Given the description of an element on the screen output the (x, y) to click on. 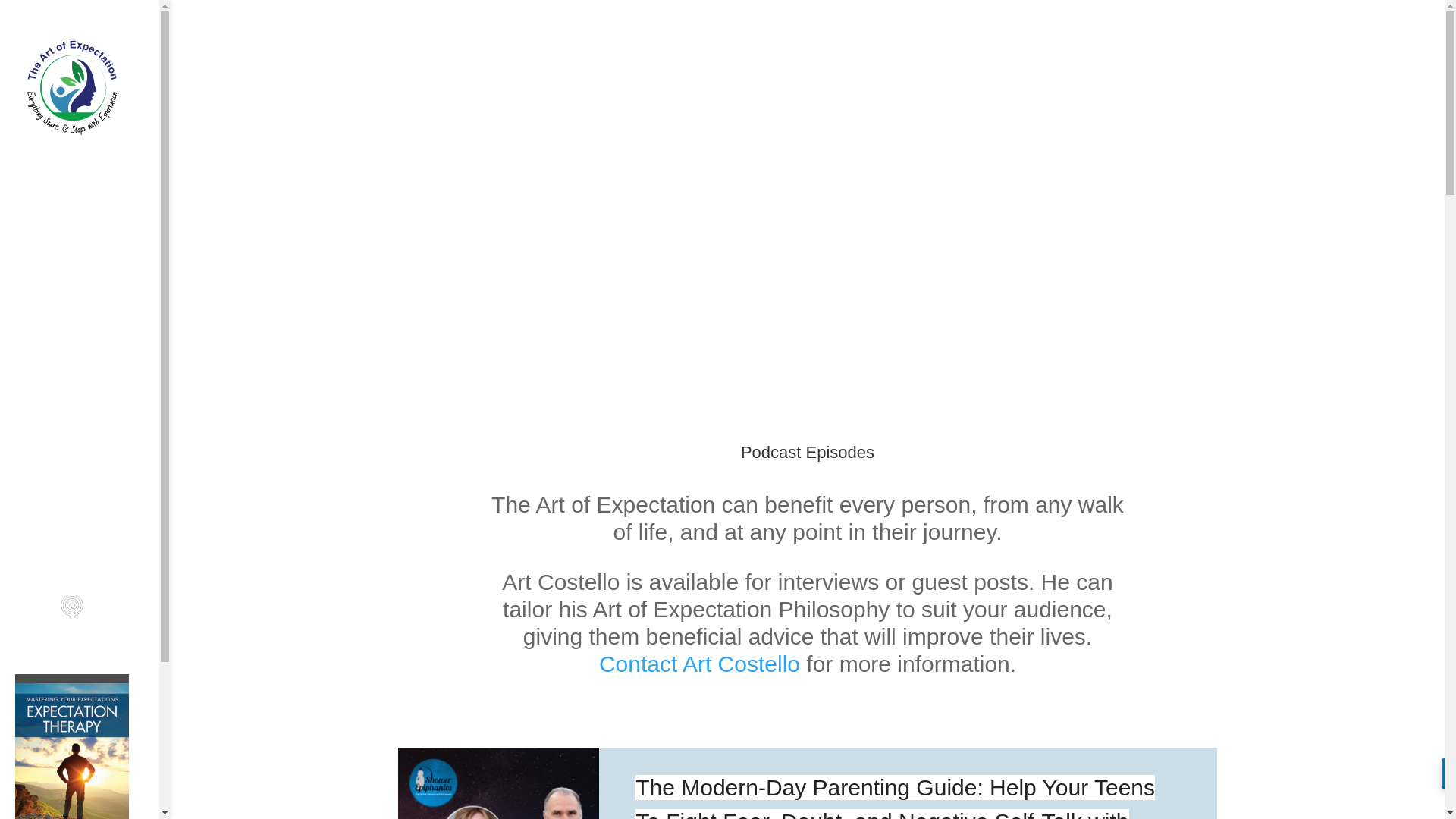
Success Stories (86, 464)
Subscribe to the Podcast (86, 623)
Subscribe to the Podcast! (86, 623)
Professional Coaching (86, 304)
The Expectation Academy (86, 220)
Motivational Speaking (86, 347)
About (86, 262)
The Art of Expectation (86, 177)
Corporate Training (86, 380)
Podcast (86, 497)
Contact (86, 564)
Book: Expectation Therapy (86, 422)
Blog (86, 531)
